Given the description of an element on the screen output the (x, y) to click on. 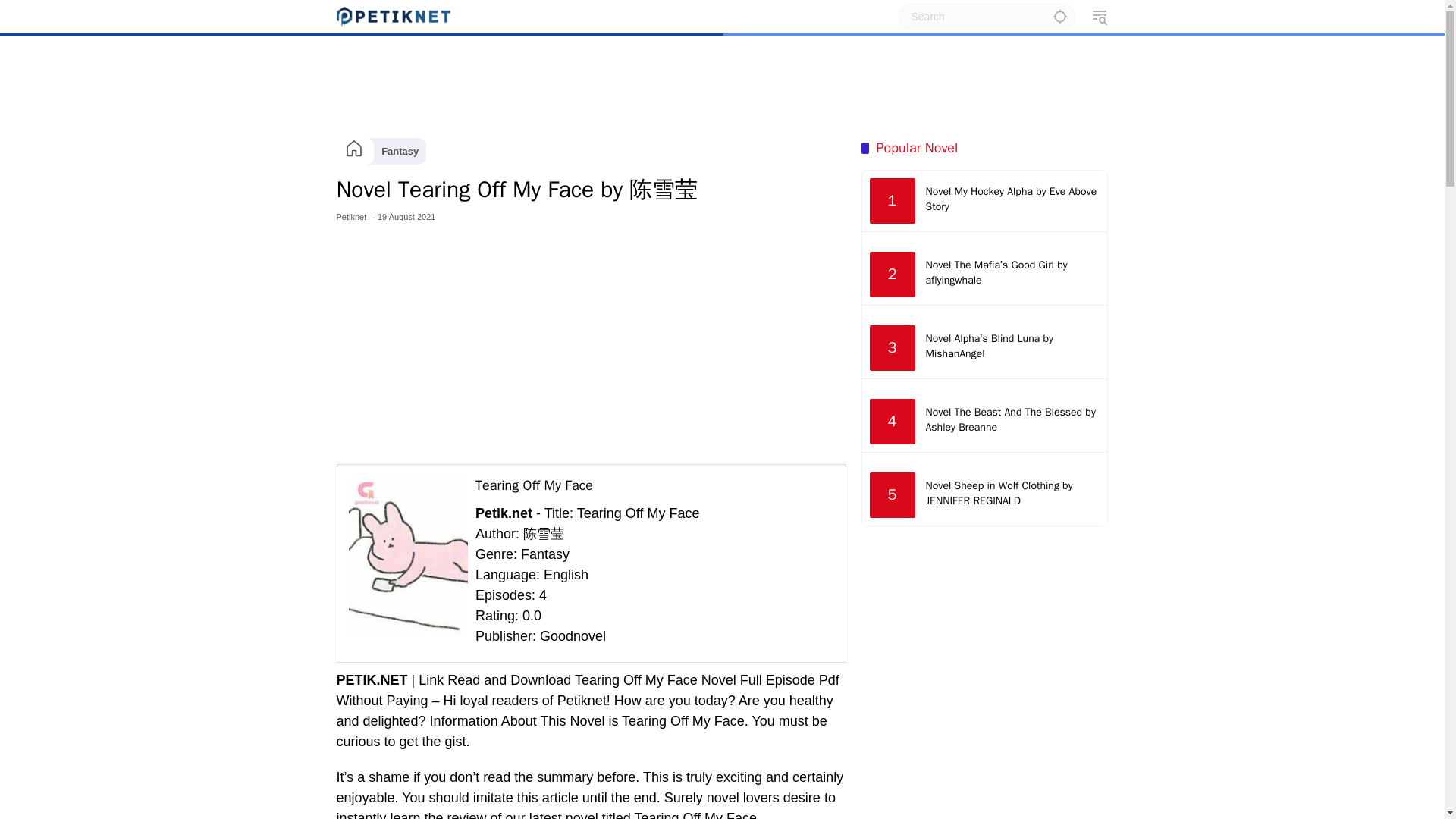
Fantasy (400, 151)
Fantasy (400, 151)
Home (353, 151)
Novel.Petik.net (392, 15)
Petiknet (351, 216)
Petiknet (351, 216)
